Given the description of an element on the screen output the (x, y) to click on. 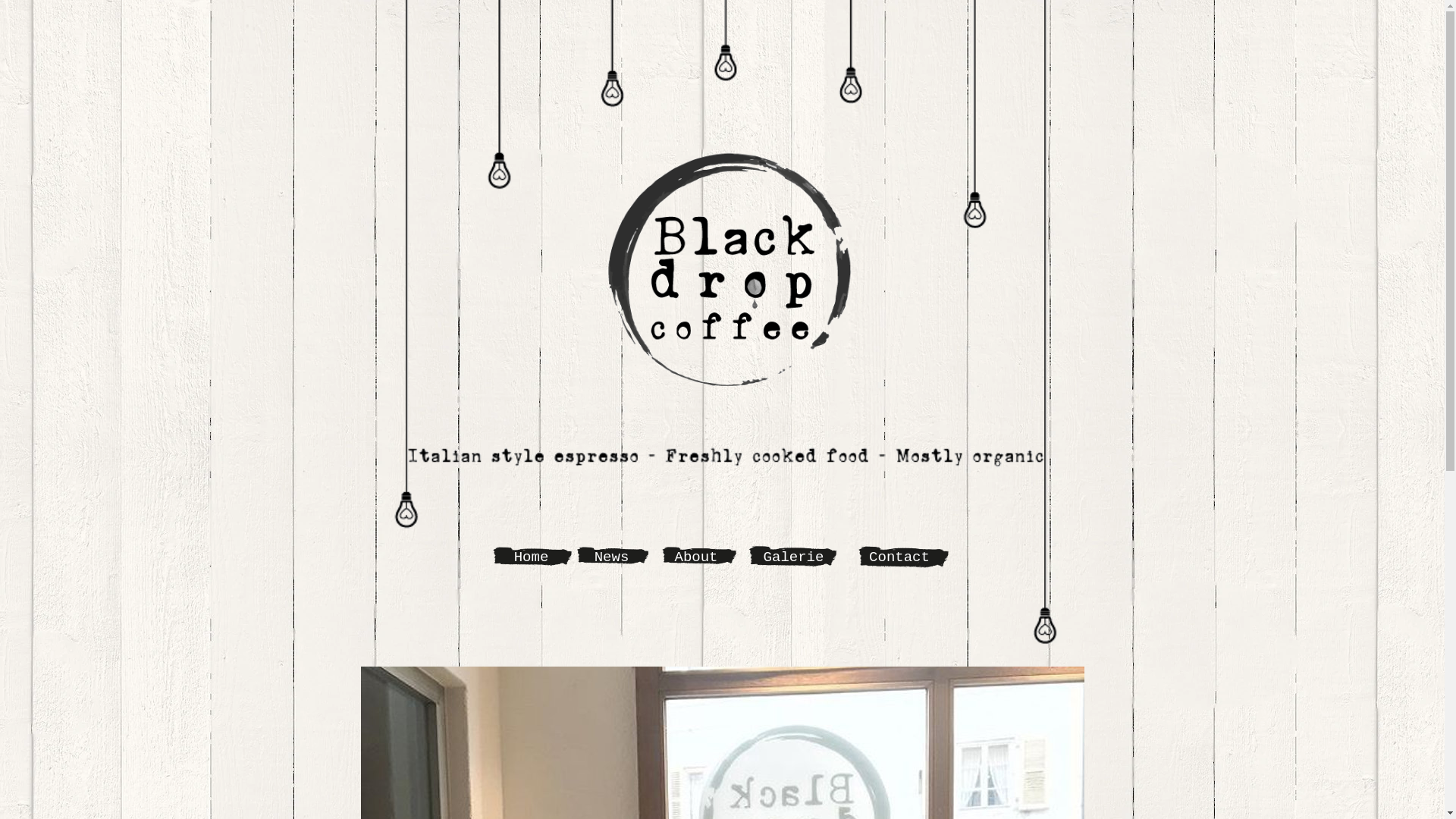
lampesvecteur.gif Element type: hover (758, 324)
brush1.gif Element type: hover (612, 555)
brush1.gif Element type: hover (903, 557)
About Element type: text (696, 557)
FINAL.gif Element type: hover (722, 270)
Contact Element type: text (898, 557)
Home Element type: text (531, 557)
brush1.gif Element type: hover (698, 555)
Galerie Element type: text (793, 557)
Photos Element type: hover (722, 580)
brush1.gif Element type: hover (793, 556)
brush1.gif Element type: hover (532, 556)
News Element type: text (611, 557)
